Given the description of an element on the screen output the (x, y) to click on. 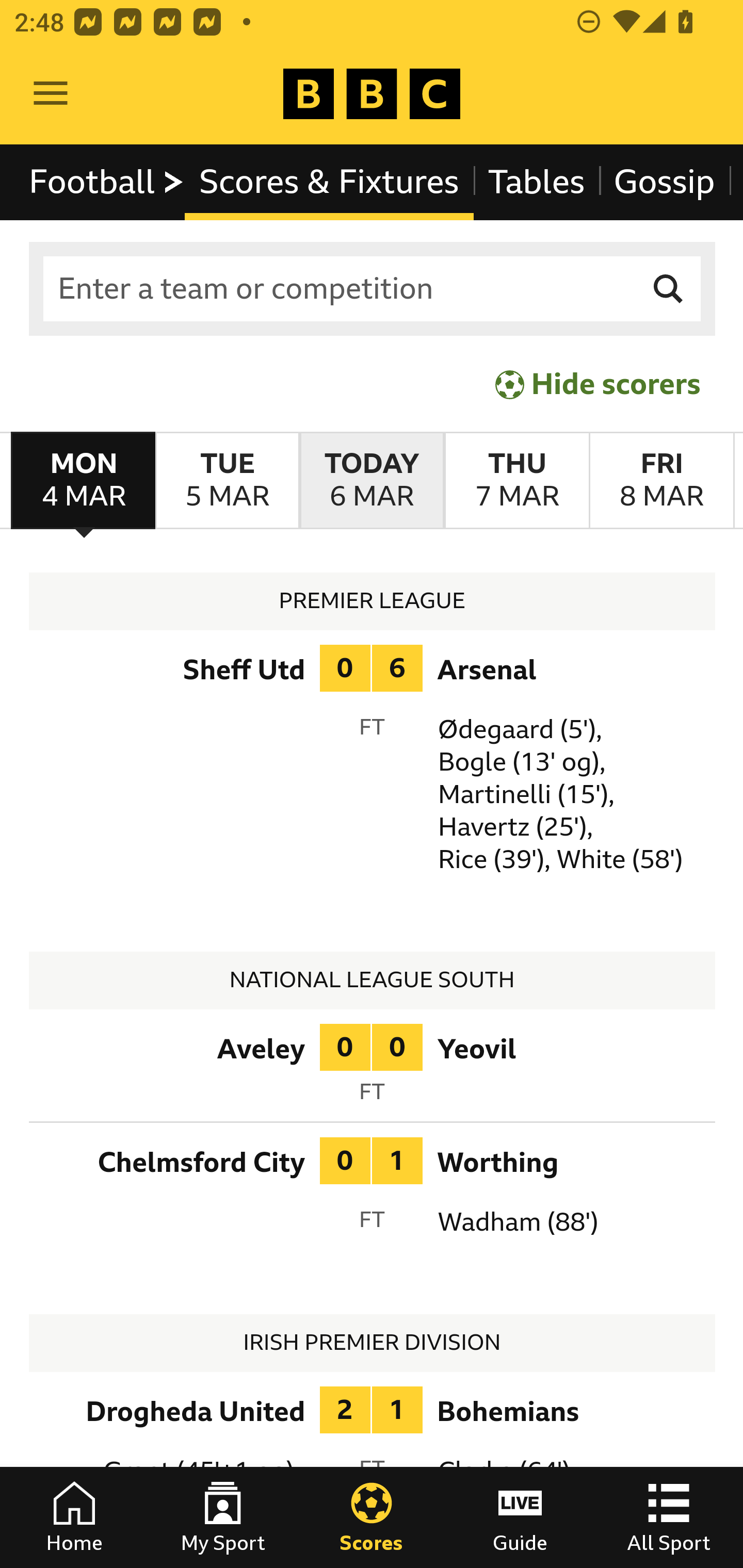
Open Menu (50, 93)
Football  (106, 181)
Scores & Fixtures (329, 181)
Tables (536, 181)
Gossip (664, 181)
Search (669, 289)
Hide scorers (598, 383)
TuesdayMarch 5th Tuesday March 5th (227, 480)
TodayMarch 6th Today March 6th (371, 480)
ThursdayMarch 7th Thursday March 7th (516, 480)
FridayMarch 8th Friday March 8th (661, 480)
Home (74, 1517)
My Sport (222, 1517)
Guide (519, 1517)
All Sport (668, 1517)
